Given the description of an element on the screen output the (x, y) to click on. 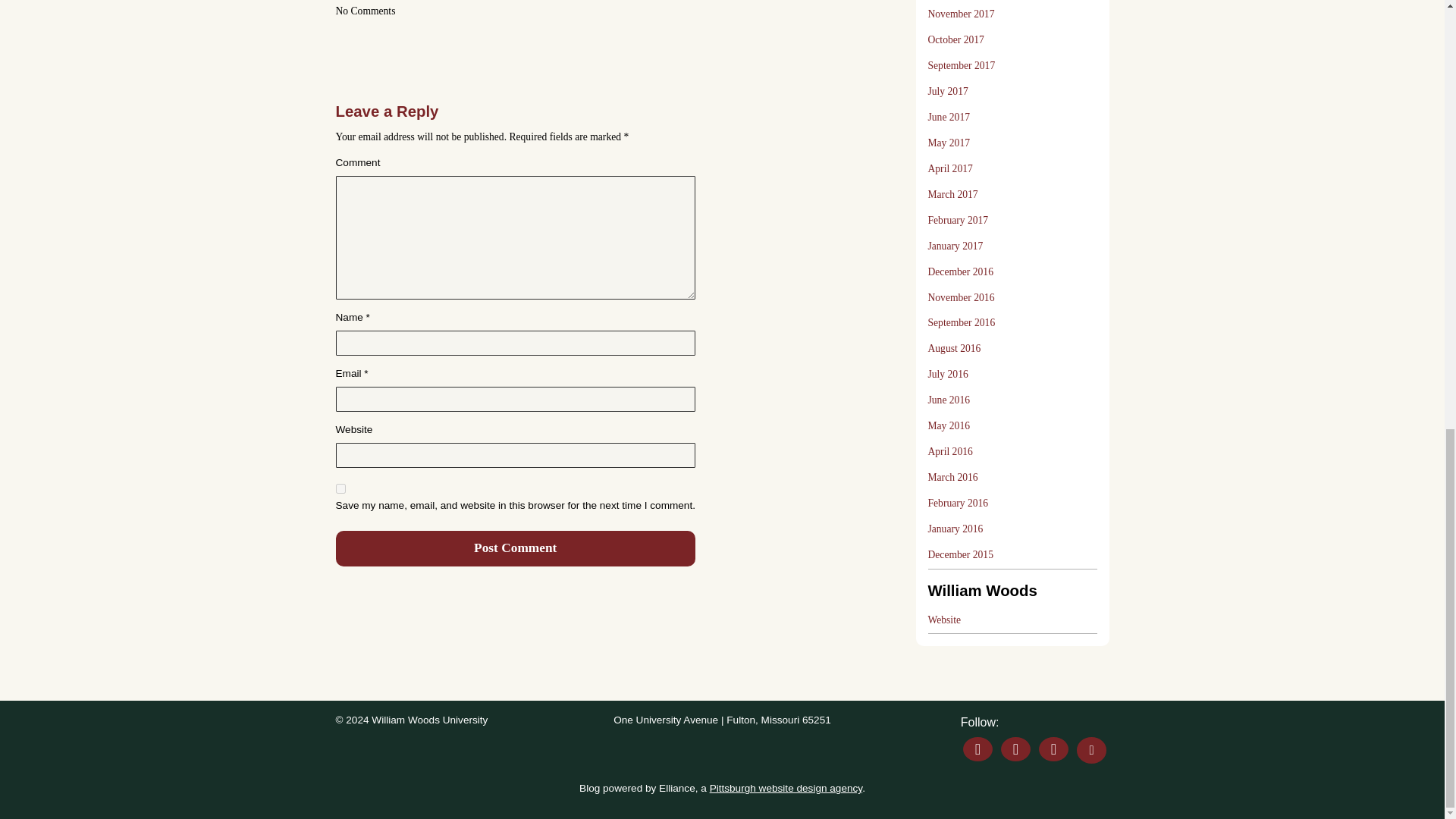
Post Comment (514, 548)
October 2017 (956, 40)
Post Comment (514, 548)
yes (339, 488)
November 2017 (961, 14)
December 2017 (960, 0)
September 2017 (961, 65)
